Given the description of an element on the screen output the (x, y) to click on. 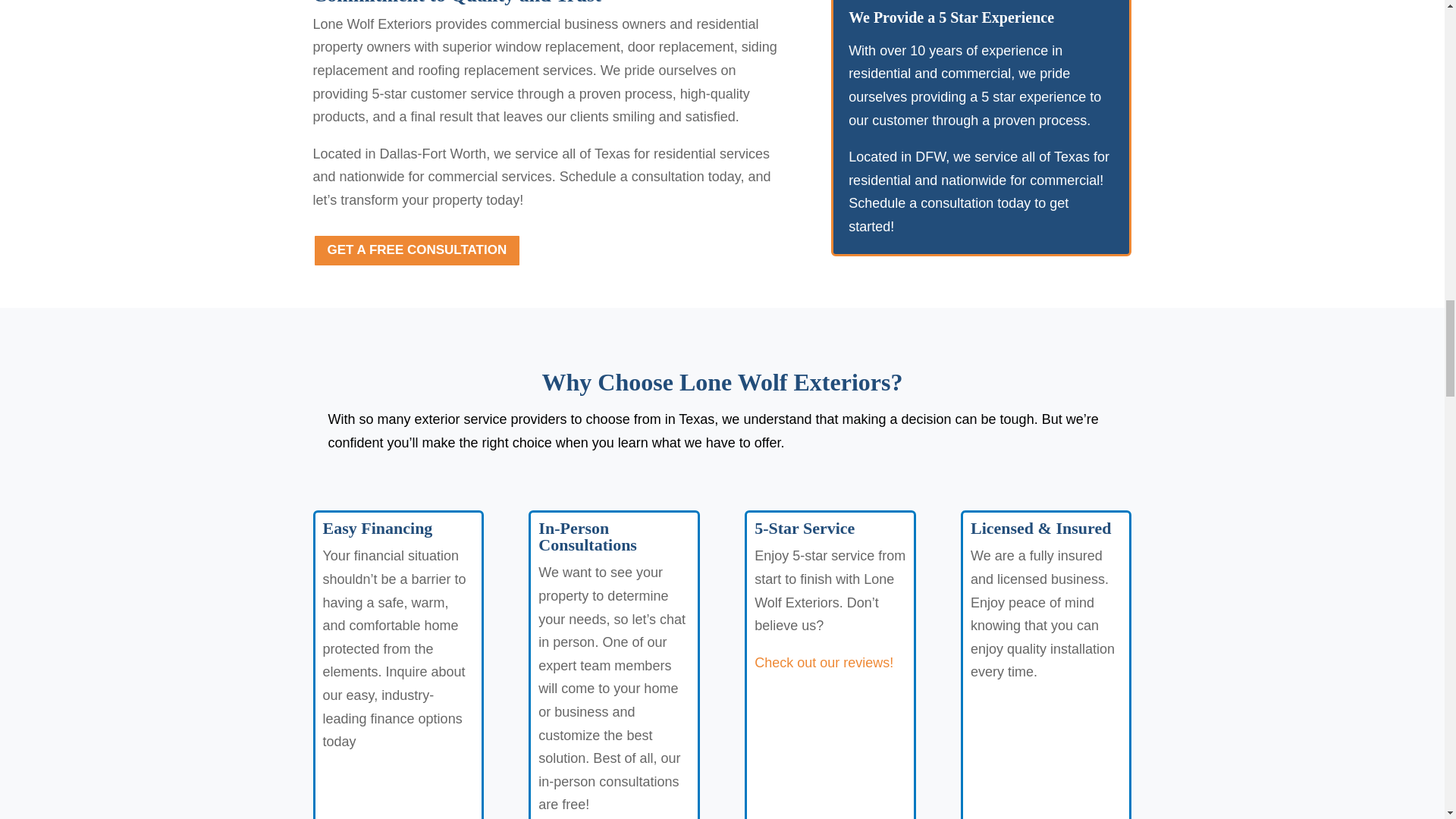
GET A FREE CONSULTATION (417, 250)
Check out our reviews! (823, 662)
